Given the description of an element on the screen output the (x, y) to click on. 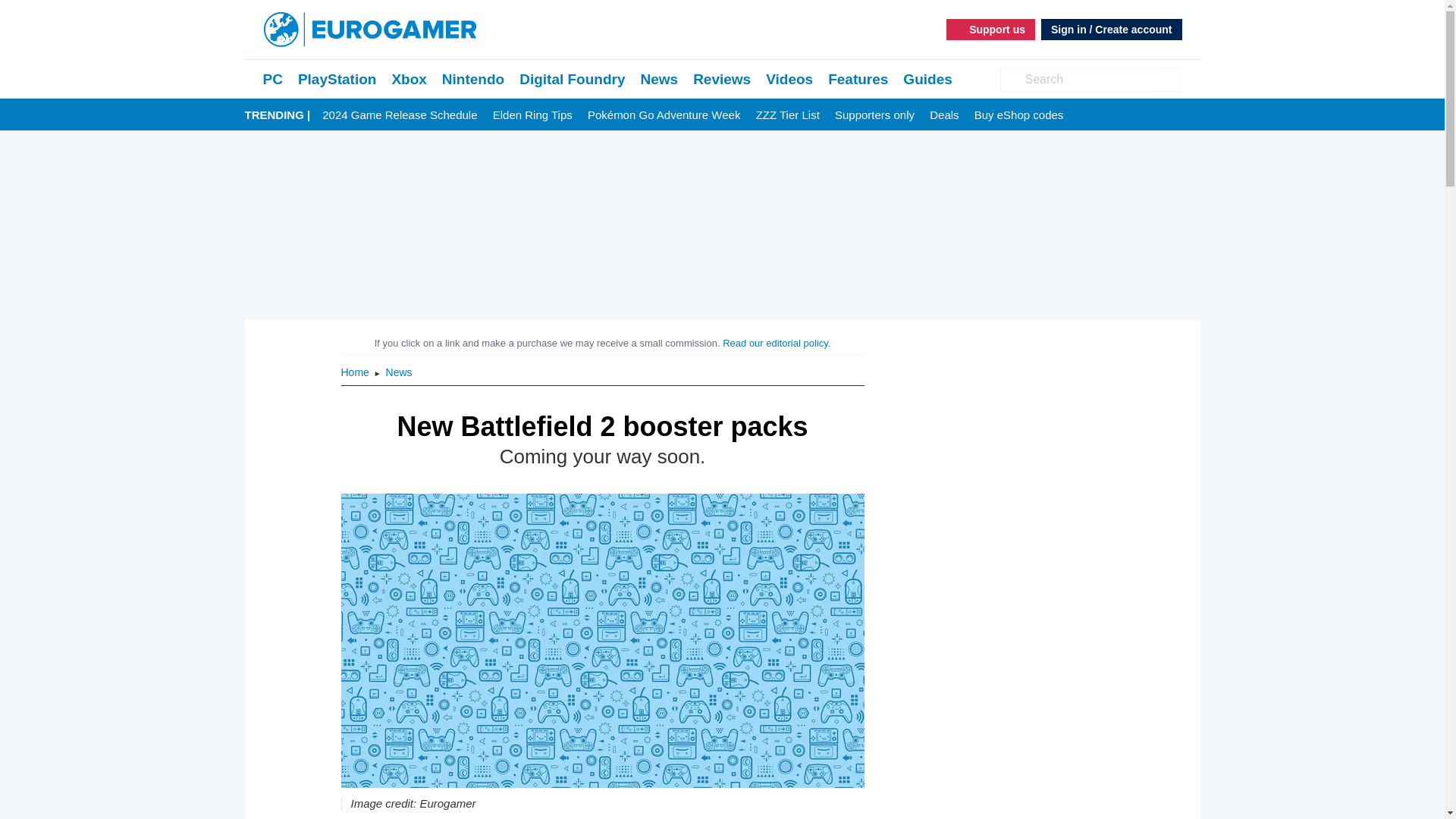
ZZZ Tier List (787, 114)
Reviews (722, 78)
Guides (927, 78)
Features (858, 78)
Buy eShop codes (1019, 114)
Elden Ring Tips (532, 114)
Deals (944, 114)
Xbox (408, 78)
News (659, 78)
Read our editorial policy (775, 342)
